Given the description of an element on the screen output the (x, y) to click on. 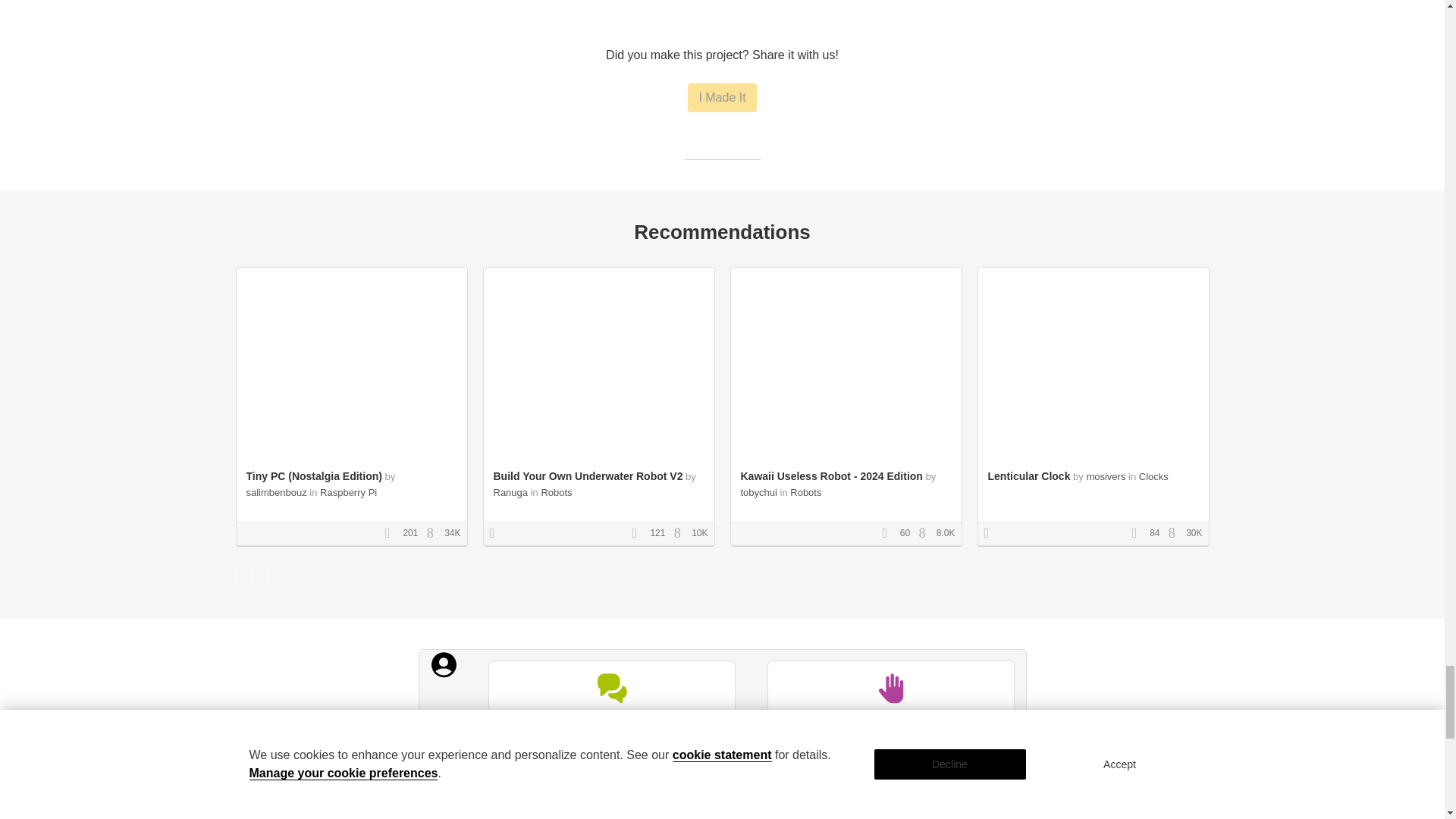
Views Count (1176, 533)
Favorites Count (889, 533)
Contest Winner (497, 533)
Views Count (681, 533)
Favorites Count (392, 533)
Favorites Count (639, 533)
Contest Winner (991, 533)
I Made It (721, 97)
Views Count (434, 533)
Views Count (925, 533)
